Given the description of an element on the screen output the (x, y) to click on. 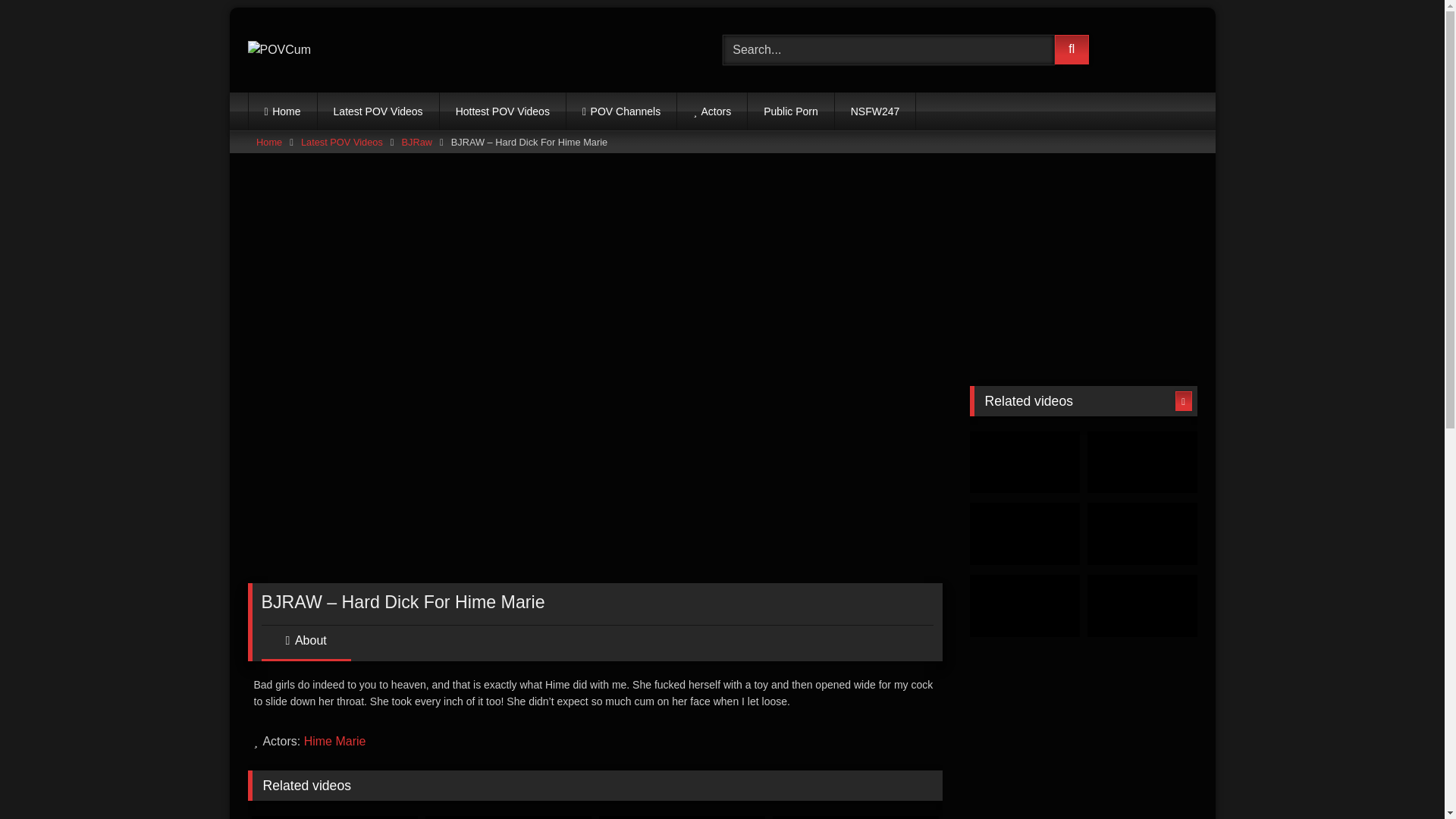
Hime Marie (335, 740)
POVCum (279, 49)
Search... (888, 50)
Hottest POV Videos (502, 111)
Hime Marie (335, 740)
Actors (711, 111)
About (305, 645)
Latest POV Videos (378, 111)
BJRaw (416, 142)
